Given the description of an element on the screen output the (x, y) to click on. 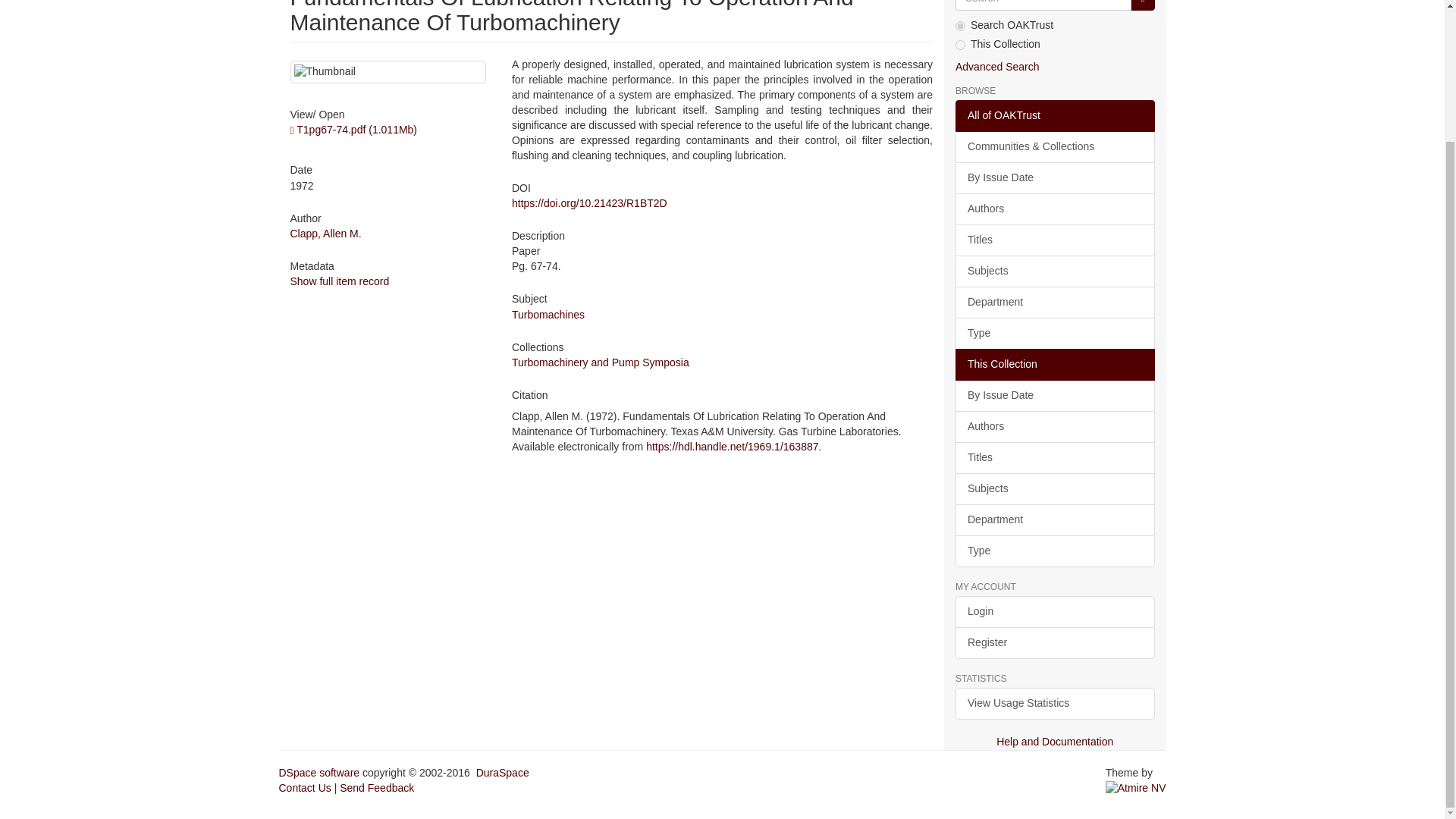
Go (1142, 5)
Show full item record (338, 281)
Atmire NV (1135, 787)
All of OAKTrust (1054, 115)
Clapp, Allen M. (325, 233)
Advanced Search (997, 66)
Turbomachinery and Pump Symposia (600, 362)
Turbomachines (548, 314)
